Given the description of an element on the screen output the (x, y) to click on. 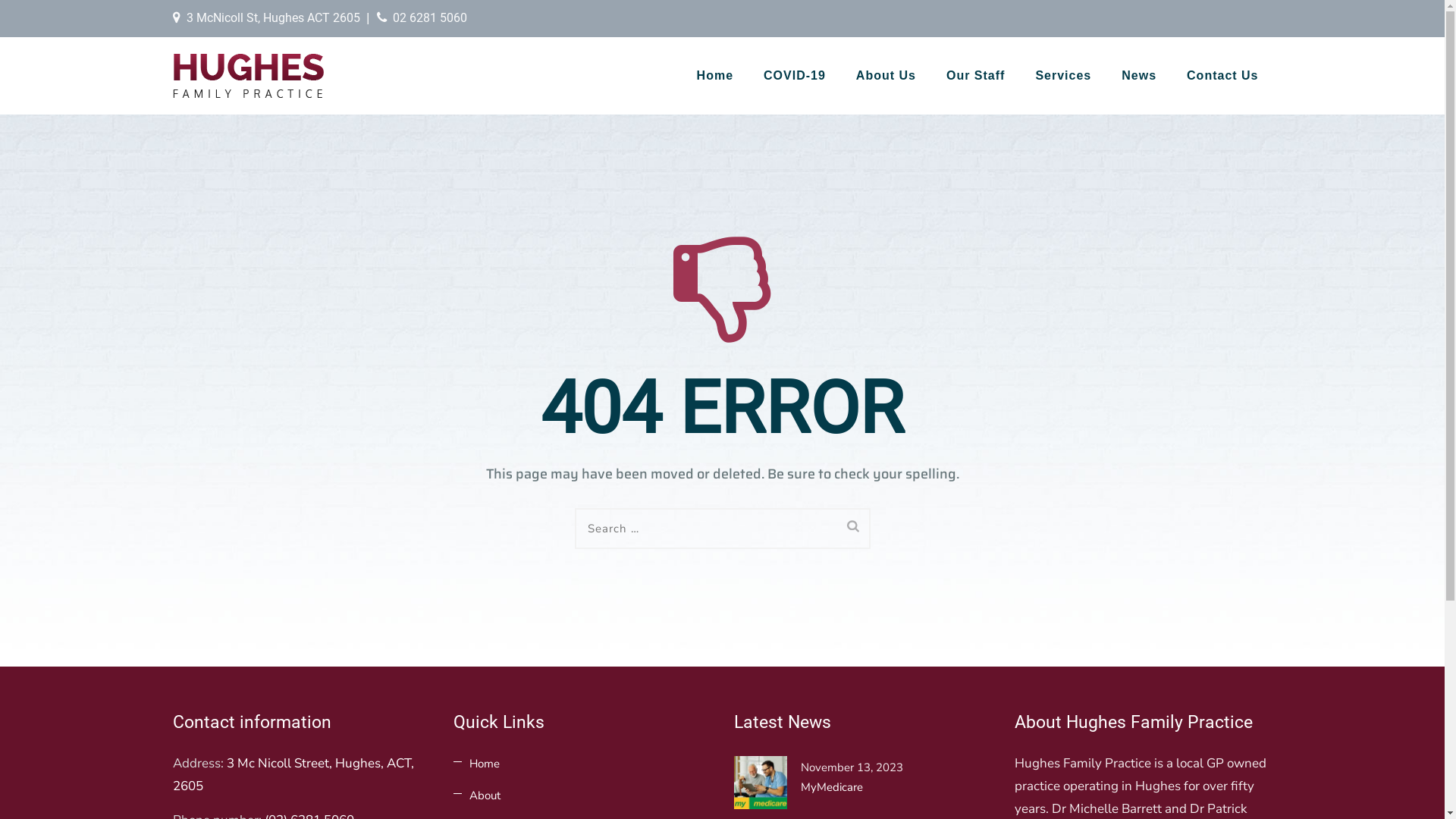
Hughes Family Practice Element type: hover (247, 75)
COVID-19 Element type: text (794, 75)
Our Staff Element type: text (975, 75)
About Element type: text (476, 795)
02 6281 5060 Element type: text (429, 17)
Home Element type: text (714, 75)
Search Element type: text (852, 525)
Home Element type: text (476, 763)
3 McNicoll St, Hughes ACT 2605 Element type: text (273, 17)
Contact Us Element type: text (1222, 75)
MyMedicare Element type: text (862, 786)
News Element type: text (1138, 75)
3 Mc Nicoll Street, Hughes, ACT, 2605 Element type: text (293, 774)
About Us Element type: text (885, 75)
Services Element type: text (1062, 75)
